Given the description of an element on the screen output the (x, y) to click on. 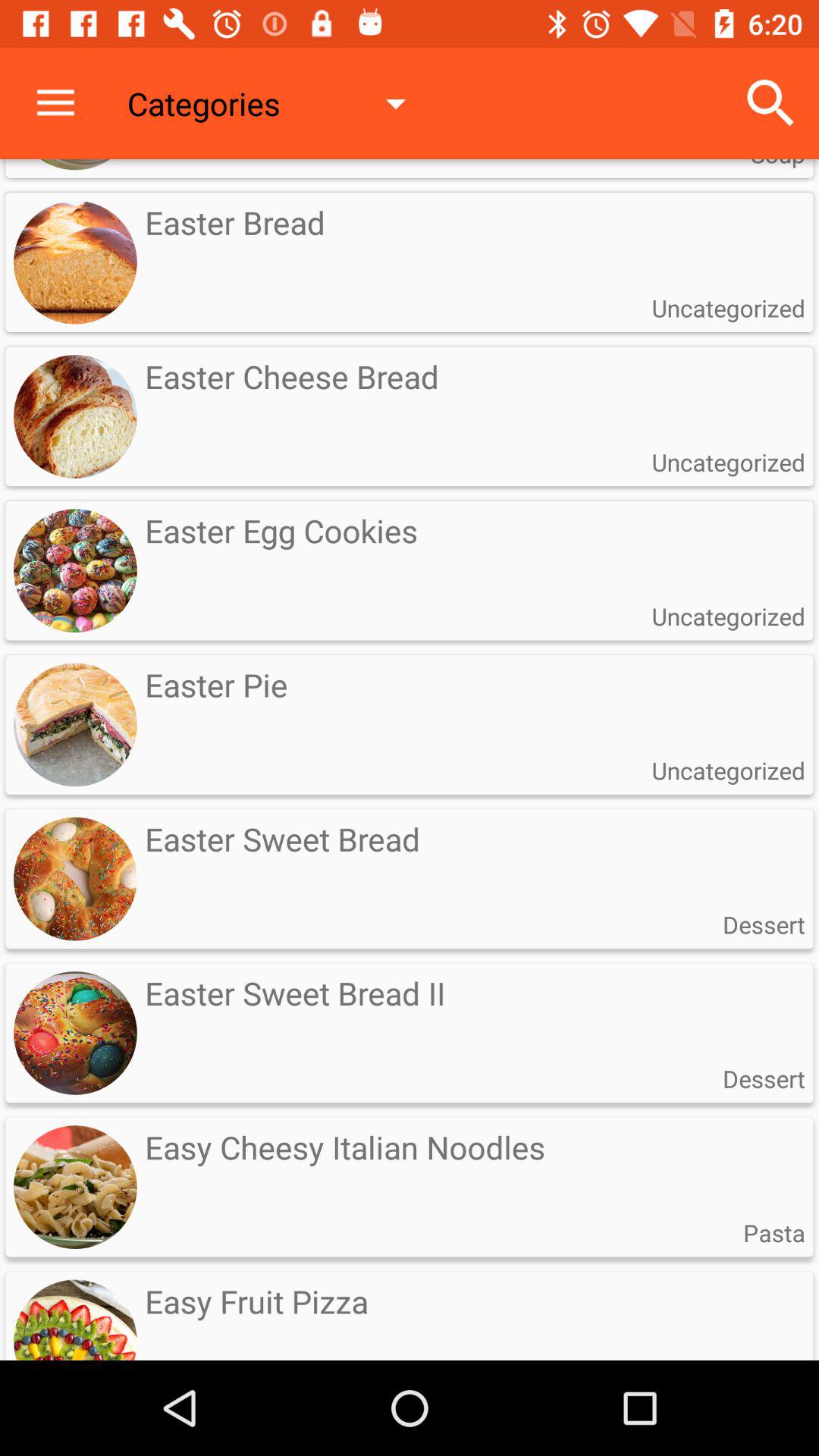
click the icon next to the categories (55, 103)
